Given the description of an element on the screen output the (x, y) to click on. 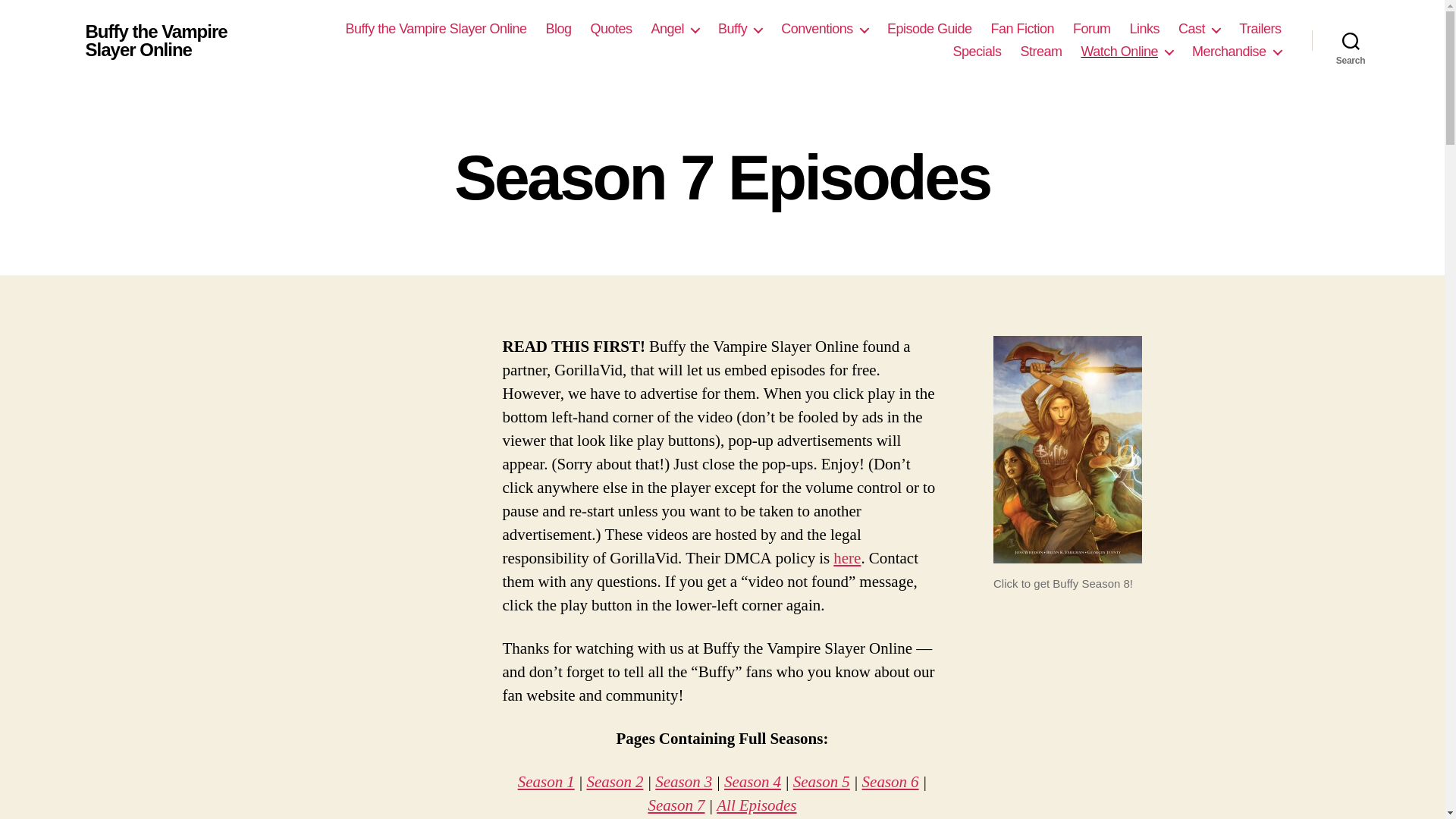
Blog (557, 29)
Conventions (823, 29)
Quotes (610, 29)
Buffy the Vampire Slayer Online (435, 29)
Angel (675, 29)
Buffy (739, 29)
Buffy the Vampire Slayer Online (181, 40)
